Given the description of an element on the screen output the (x, y) to click on. 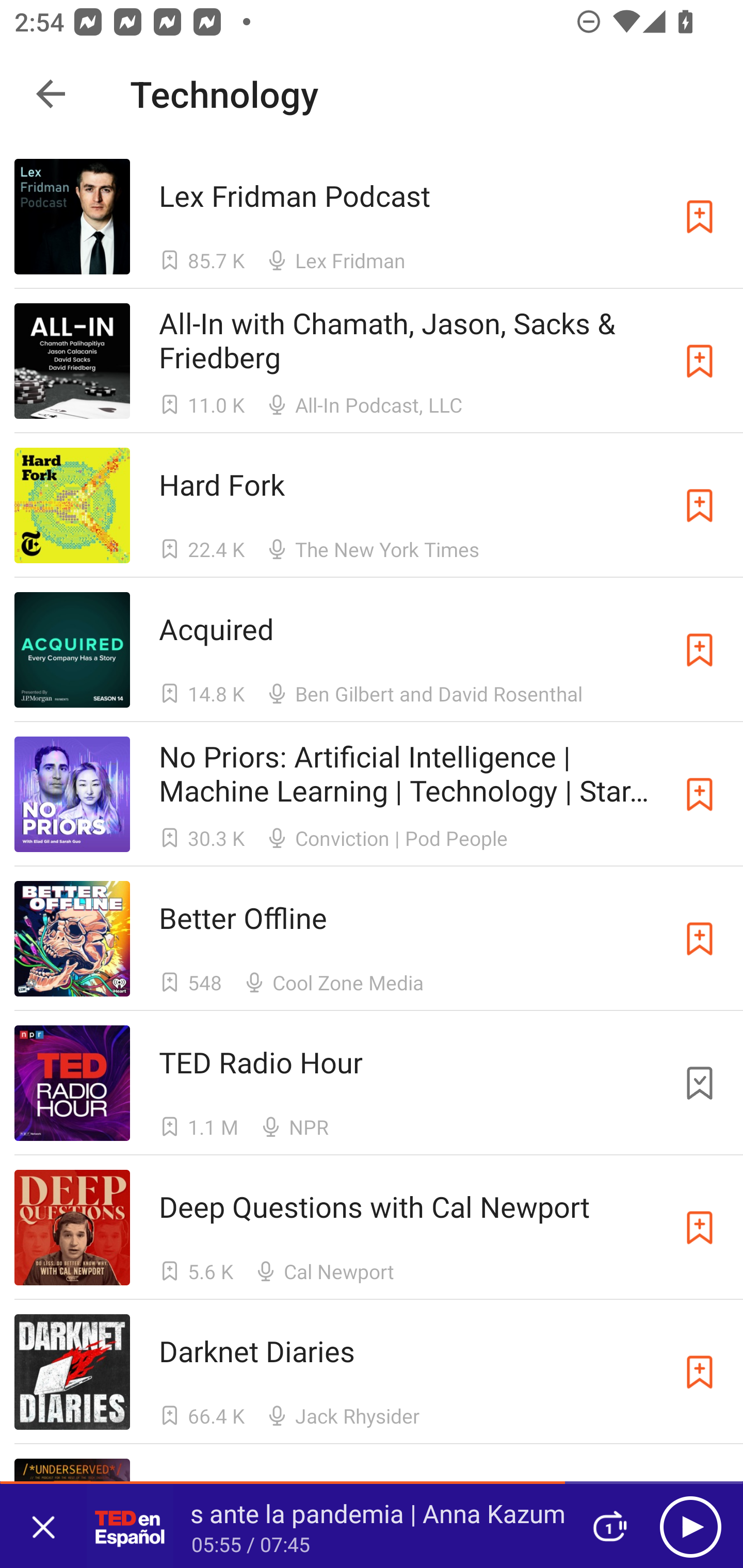
Navigate up (50, 93)
Subscribe (699, 216)
Subscribe (699, 360)
Subscribe (699, 505)
Subscribe (699, 649)
Subscribe (699, 793)
Subscribe (699, 939)
Unsubscribe (699, 1083)
Subscribe (699, 1227)
Subscribe (699, 1371)
Play (690, 1526)
